Given the description of an element on the screen output the (x, y) to click on. 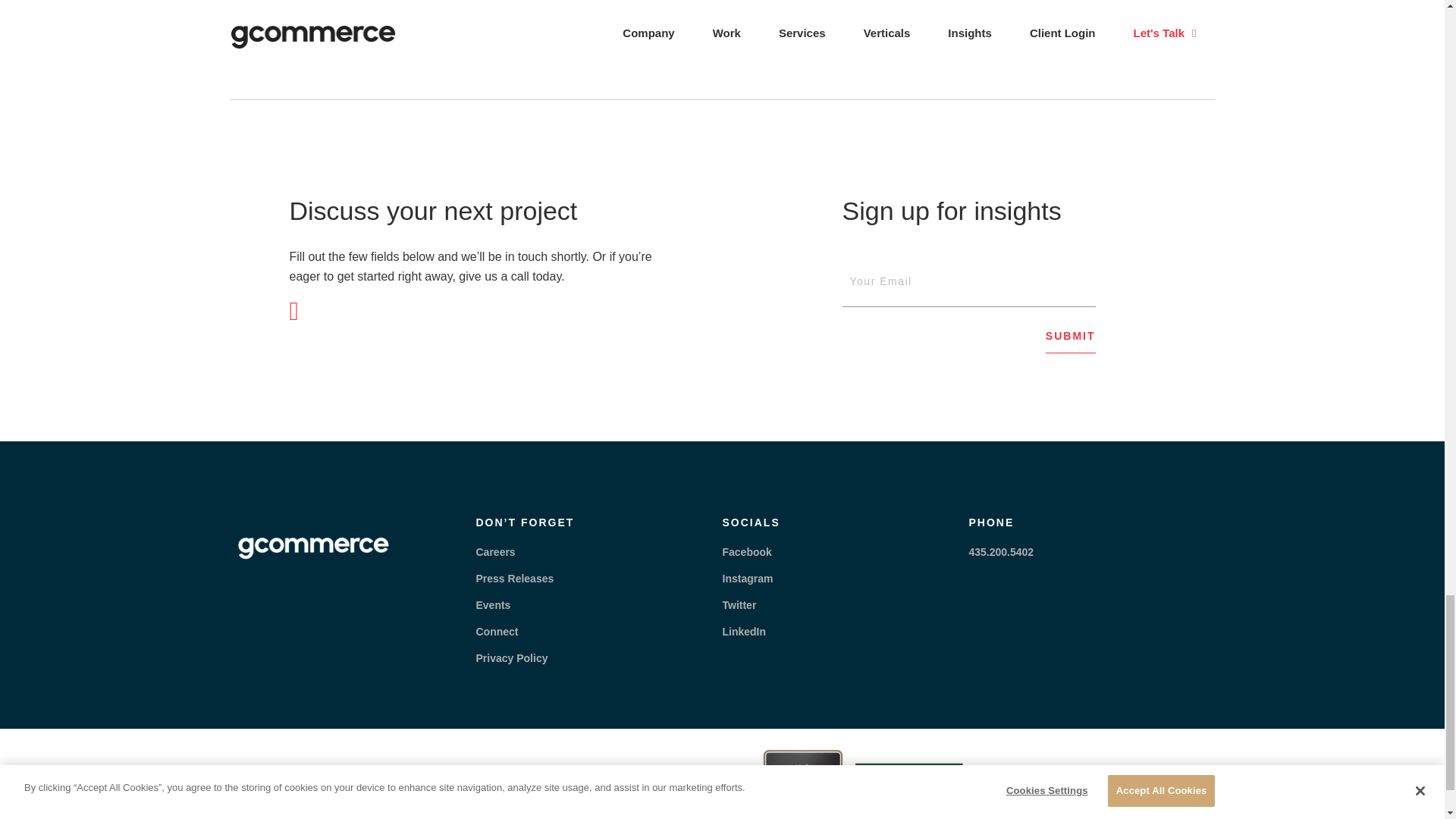
Press Releases (515, 578)
Facebook (746, 551)
Events (493, 604)
Privacy Policy (512, 657)
Careers (495, 551)
Connect (497, 631)
SUBMIT (1070, 341)
